Given the description of an element on the screen output the (x, y) to click on. 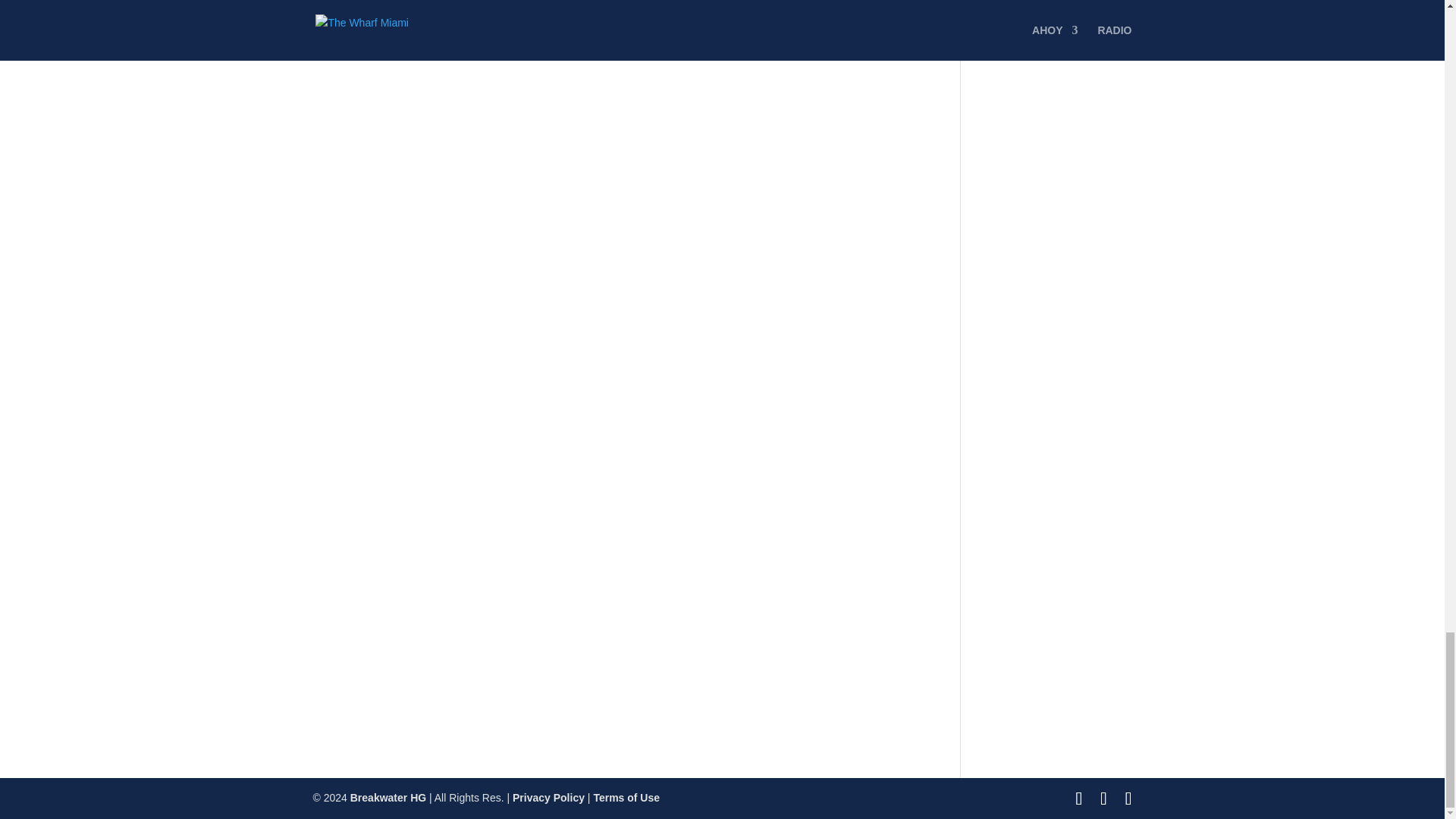
Privacy Policy (548, 797)
Terms of Use (625, 797)
Breakwater HG (388, 797)
